Given the description of an element on the screen output the (x, y) to click on. 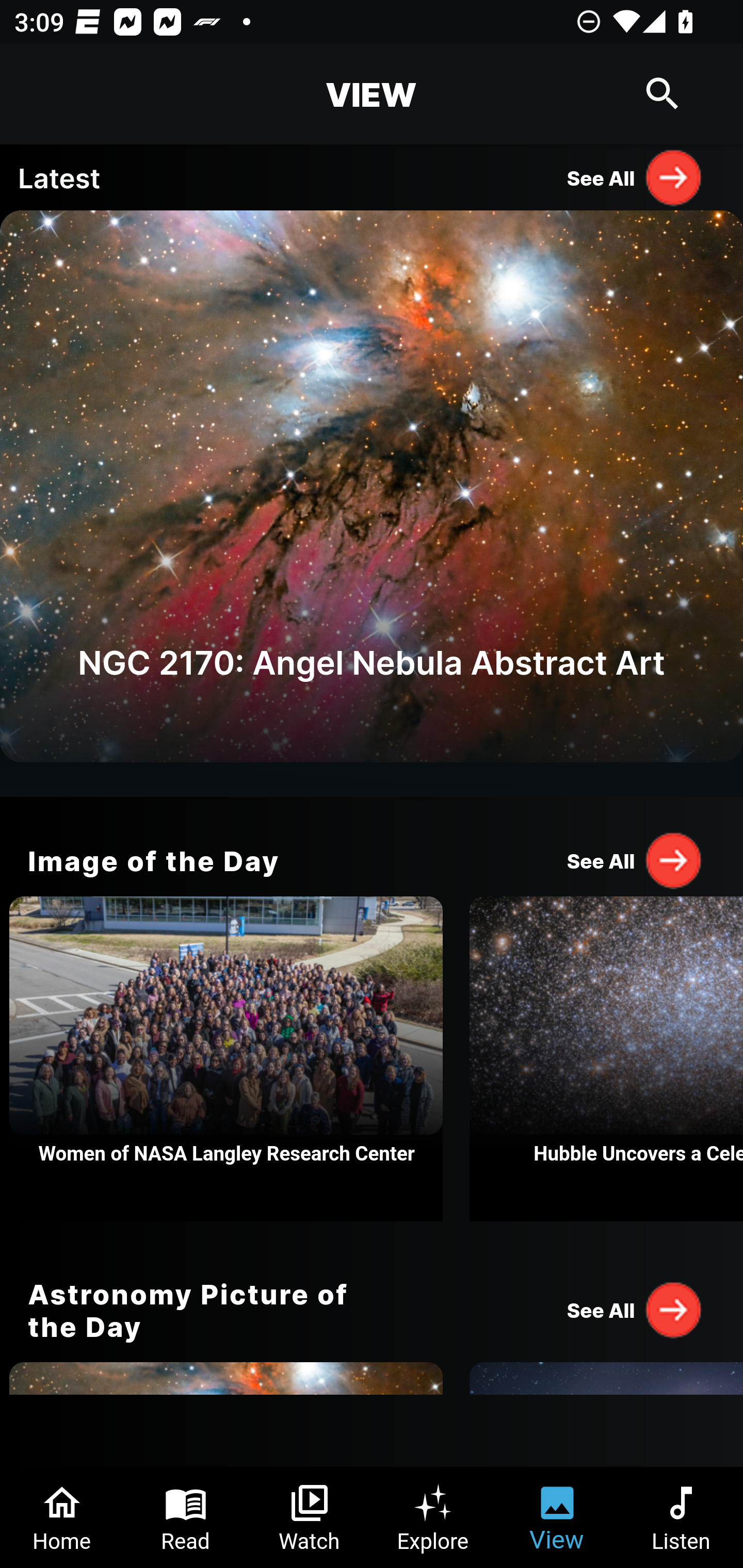
See All (634, 177)
NGC 2170: Angel Nebula Abstract Art
Hello World (371, 503)
See All (634, 860)
Women of NASA Langley Research Center (225, 1058)
Hubble Uncovers a Celestial Fossil (606, 1058)
See All (634, 1309)
Home
Tab 1 of 6 (62, 1517)
Read
Tab 2 of 6 (185, 1517)
Watch
Tab 3 of 6 (309, 1517)
Explore
Tab 4 of 6 (433, 1517)
View
Tab 5 of 6 (556, 1517)
Listen
Tab 6 of 6 (680, 1517)
